Given the description of an element on the screen output the (x, y) to click on. 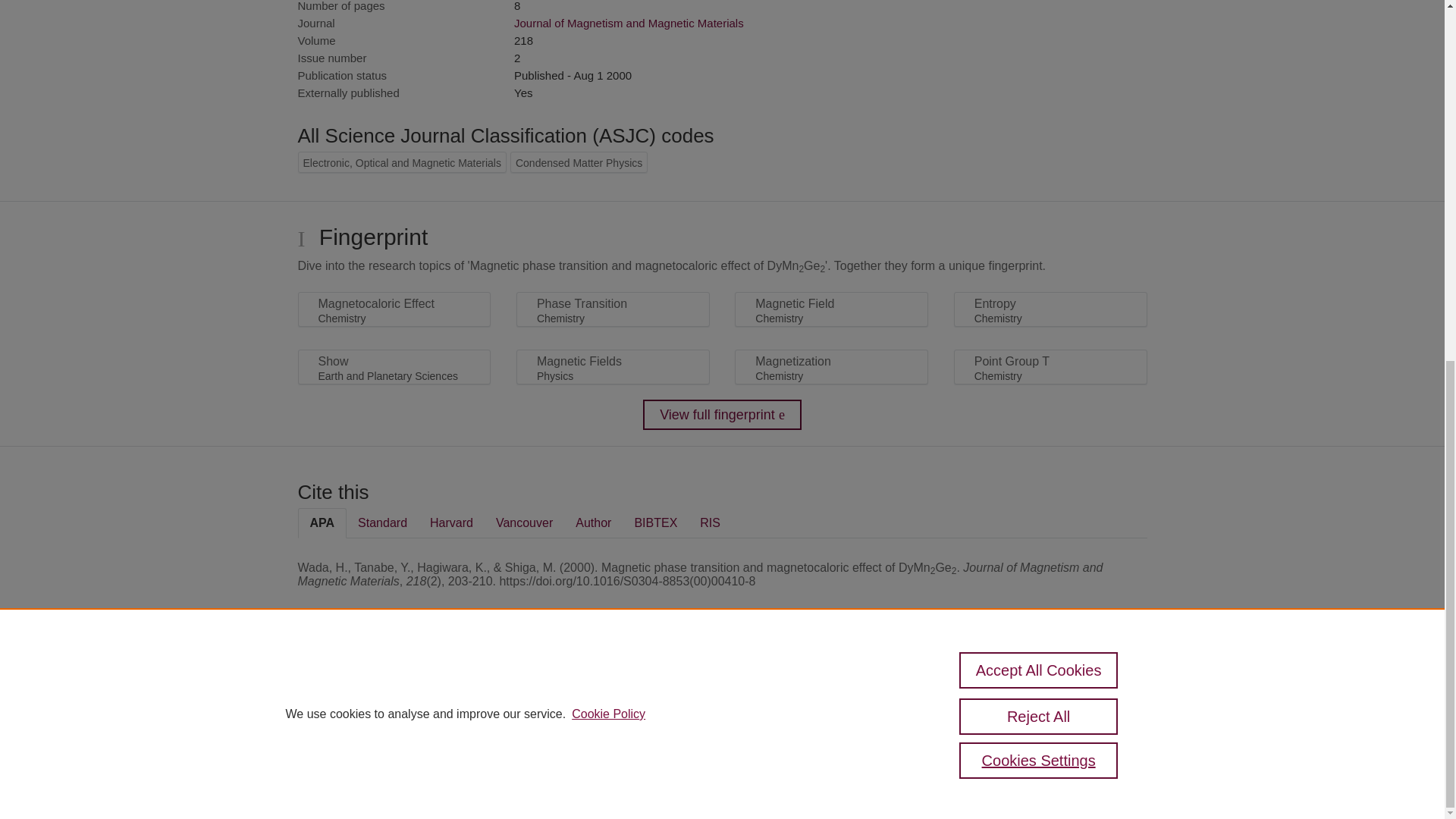
Elsevier B.V. (506, 707)
View full fingerprint (722, 414)
Scopus (394, 686)
Pure (362, 686)
Journal of Magnetism and Magnetic Materials (628, 22)
use of cookies (796, 739)
